Given the description of an element on the screen output the (x, y) to click on. 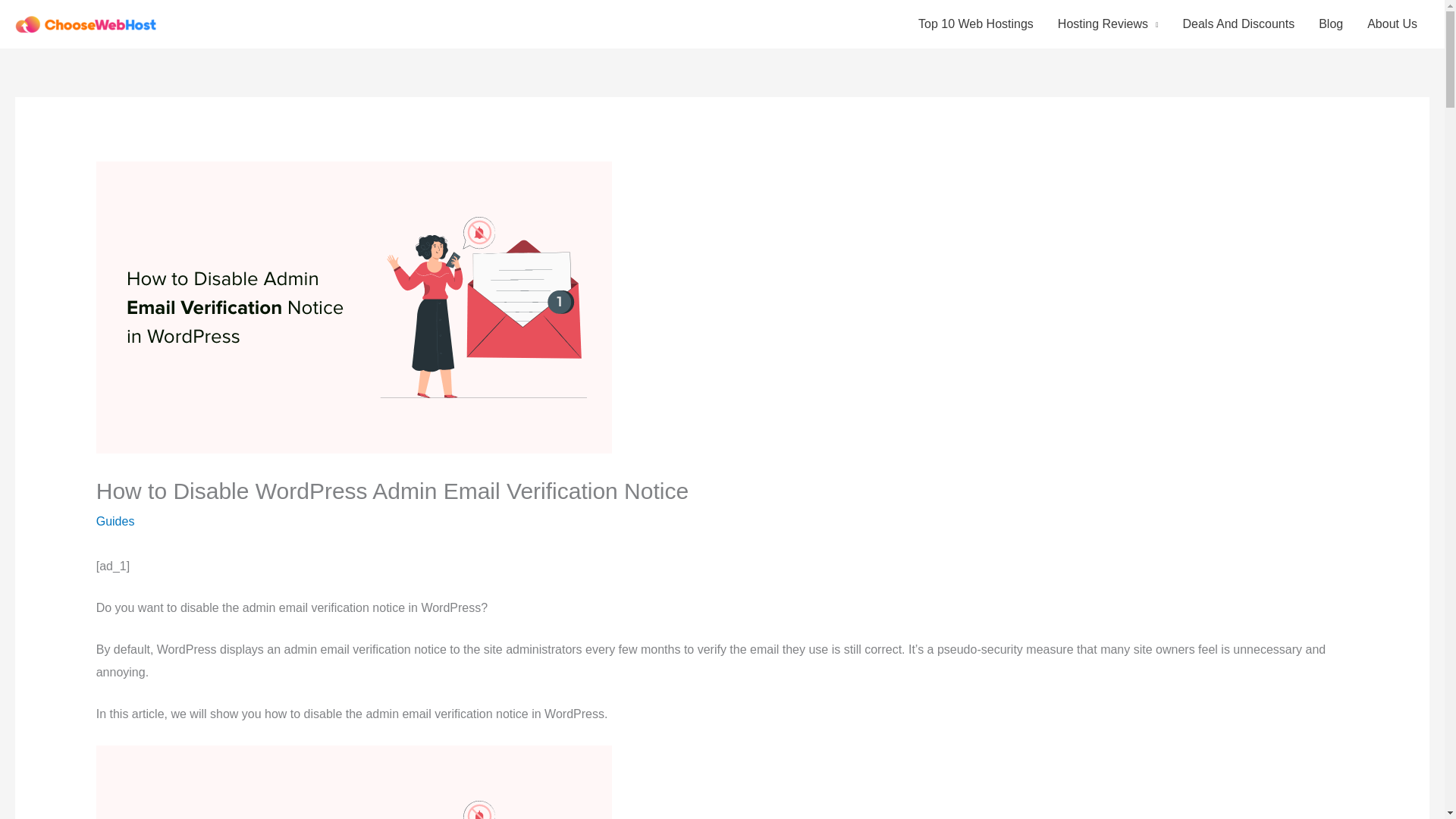
Guides (115, 521)
Blog (1330, 24)
Hosting Reviews (1107, 24)
About Us (1392, 24)
Top 10 Web Hostings (975, 24)
Deals And Discounts (1238, 24)
